Given the description of an element on the screen output the (x, y) to click on. 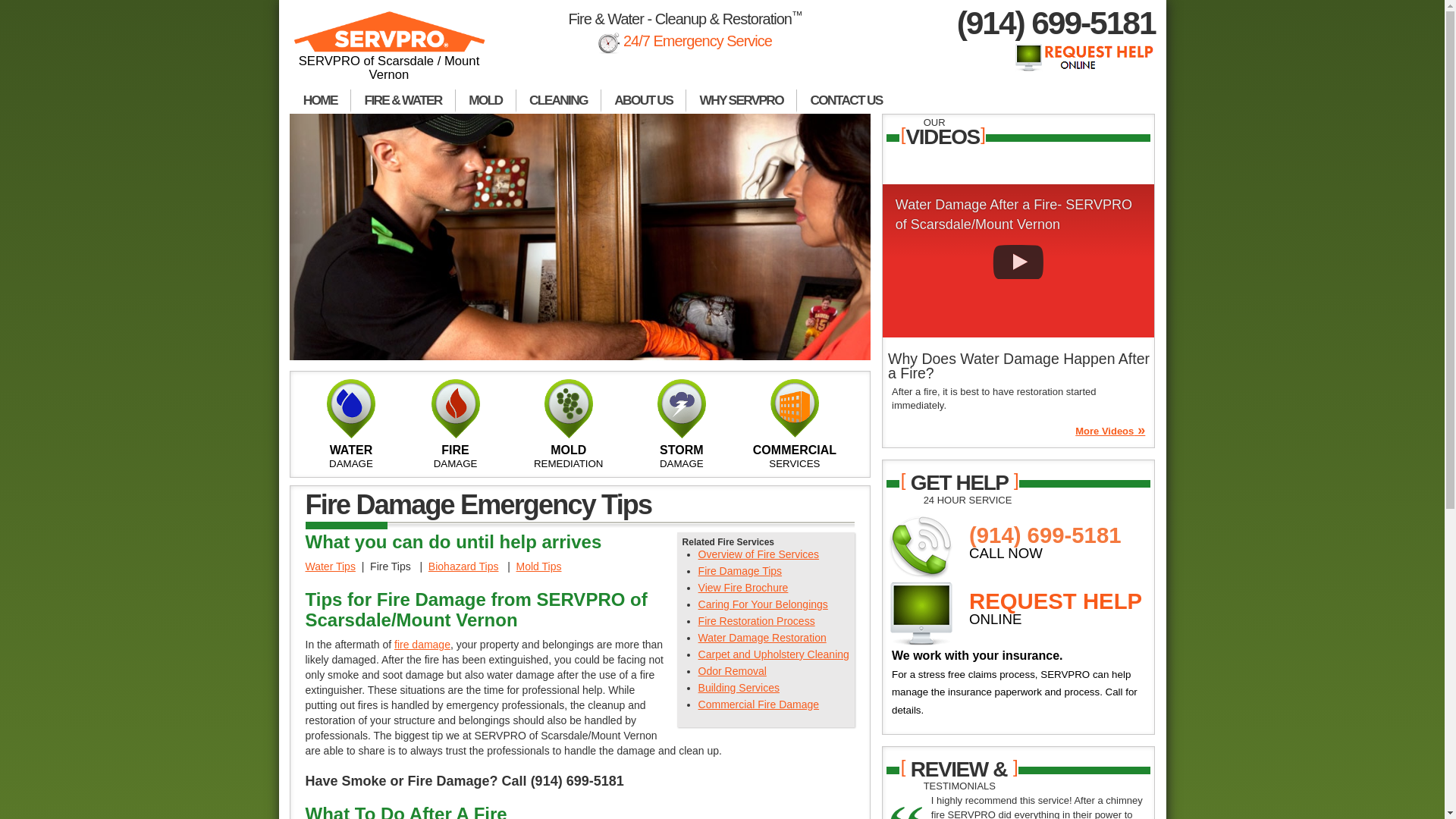
ABOUT US (643, 101)
HOME (319, 101)
CLEANING (558, 101)
MOLD (485, 101)
